Given the description of an element on the screen output the (x, y) to click on. 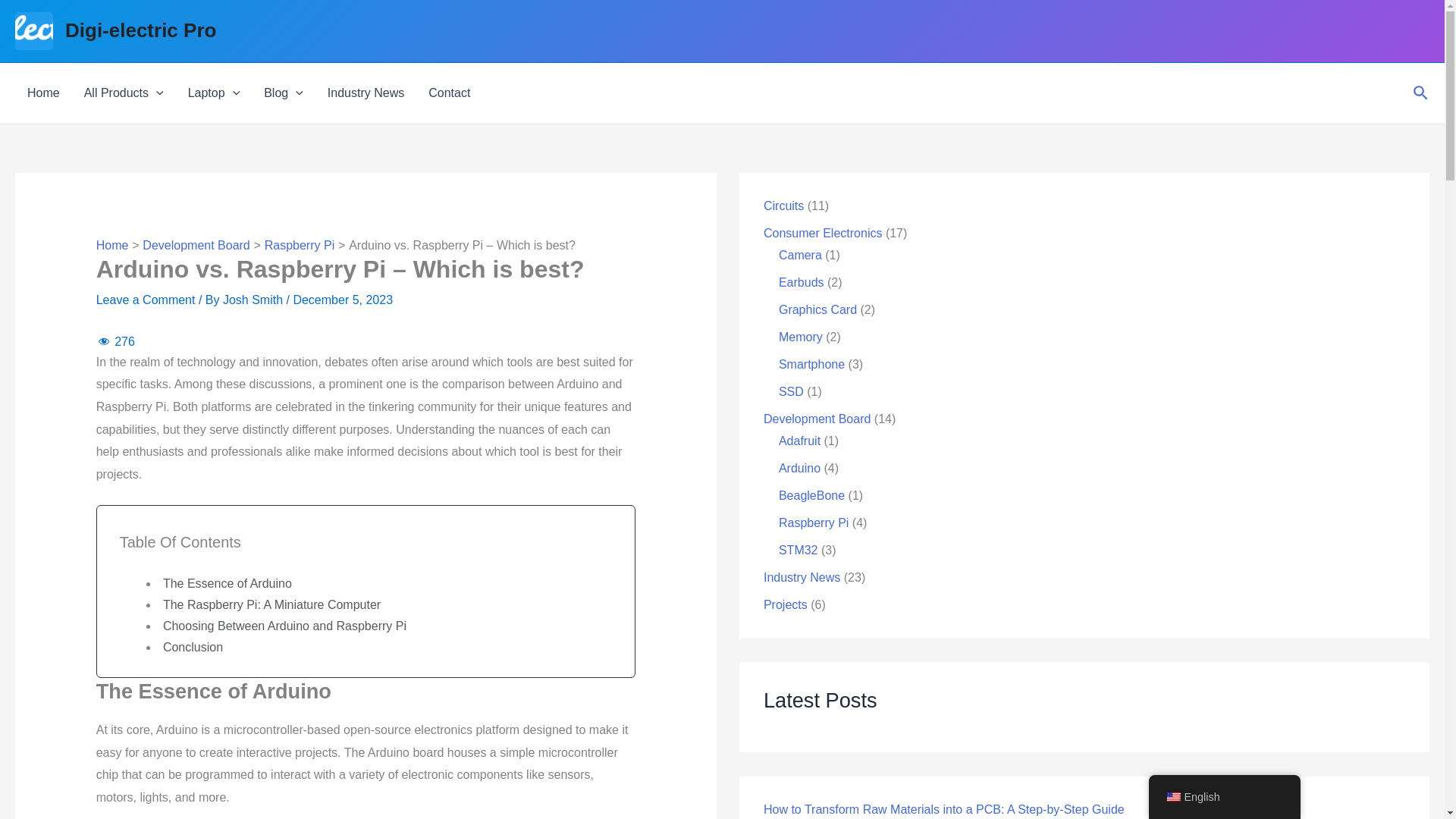
Contact (448, 93)
Digi-electric Pro (140, 29)
Home (42, 93)
English (1172, 796)
Industry News (365, 93)
View all posts by Josh Smith (254, 299)
Blog (283, 93)
Laptop (213, 93)
All Products (123, 93)
